Given the description of an element on the screen output the (x, y) to click on. 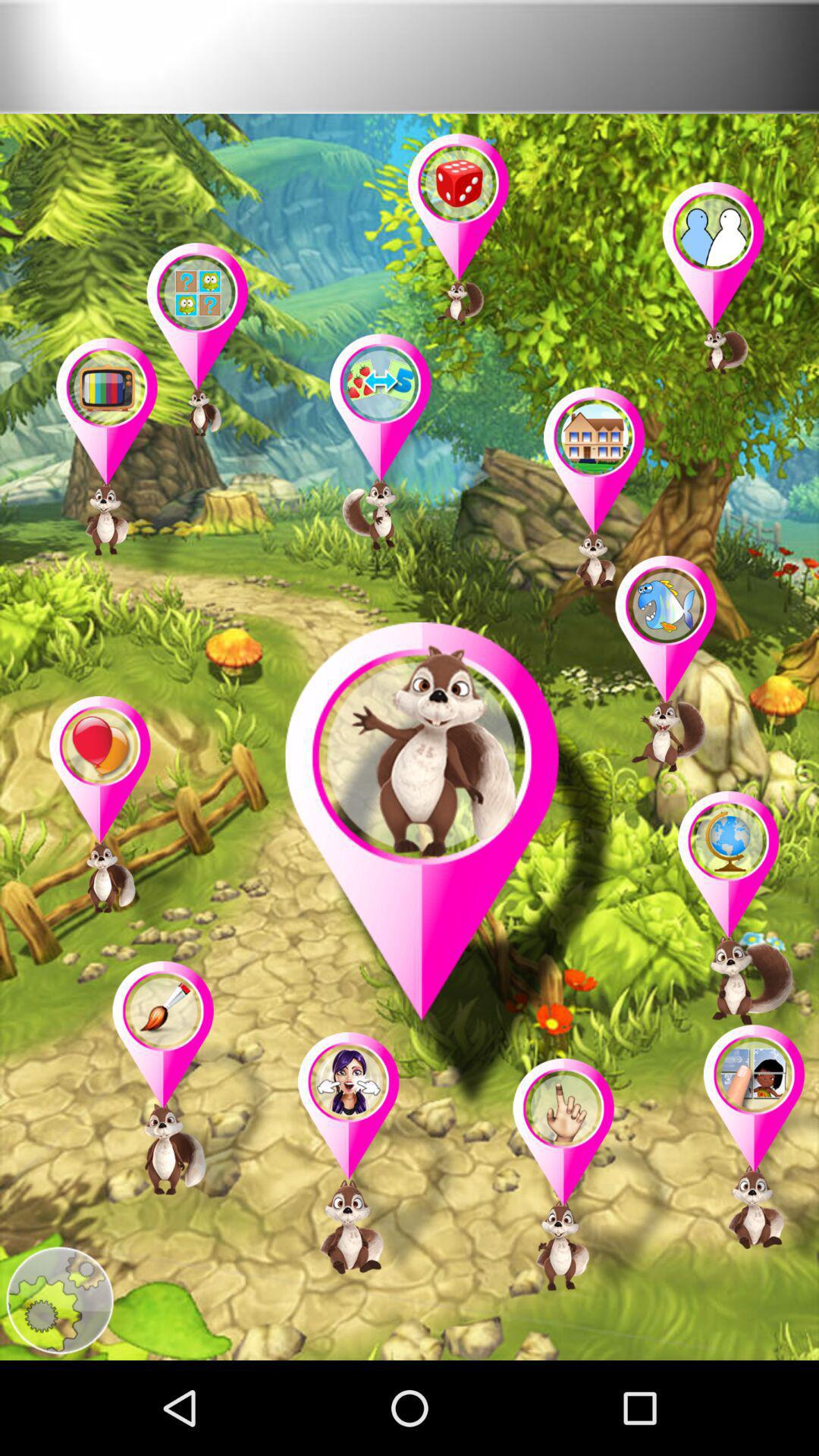
squirrel with globe in thought bubble (740, 915)
